Given the description of an element on the screen output the (x, y) to click on. 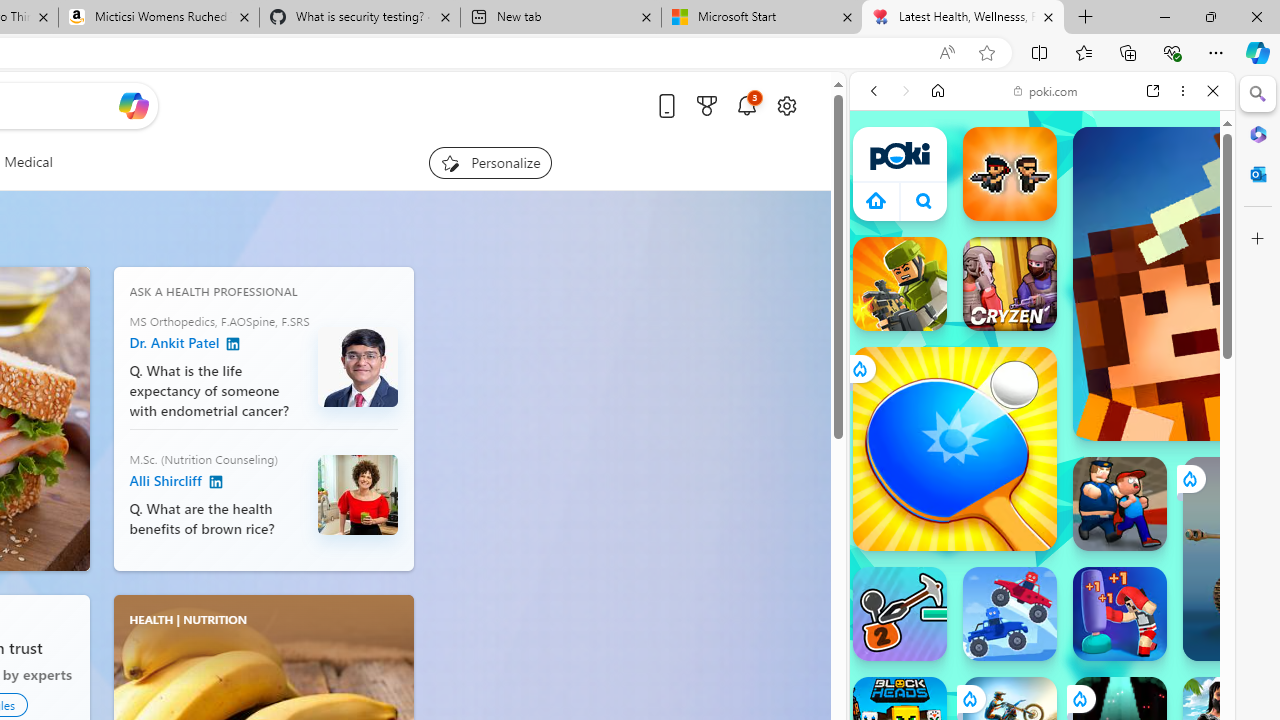
Dr. Ankit Patel (233, 344)
Ping Pong Go! (954, 448)
Show More Car Games (1164, 472)
Battle Wheels (1009, 613)
Shooting Games (1042, 518)
Io Games (1042, 616)
